Given the description of an element on the screen output the (x, y) to click on. 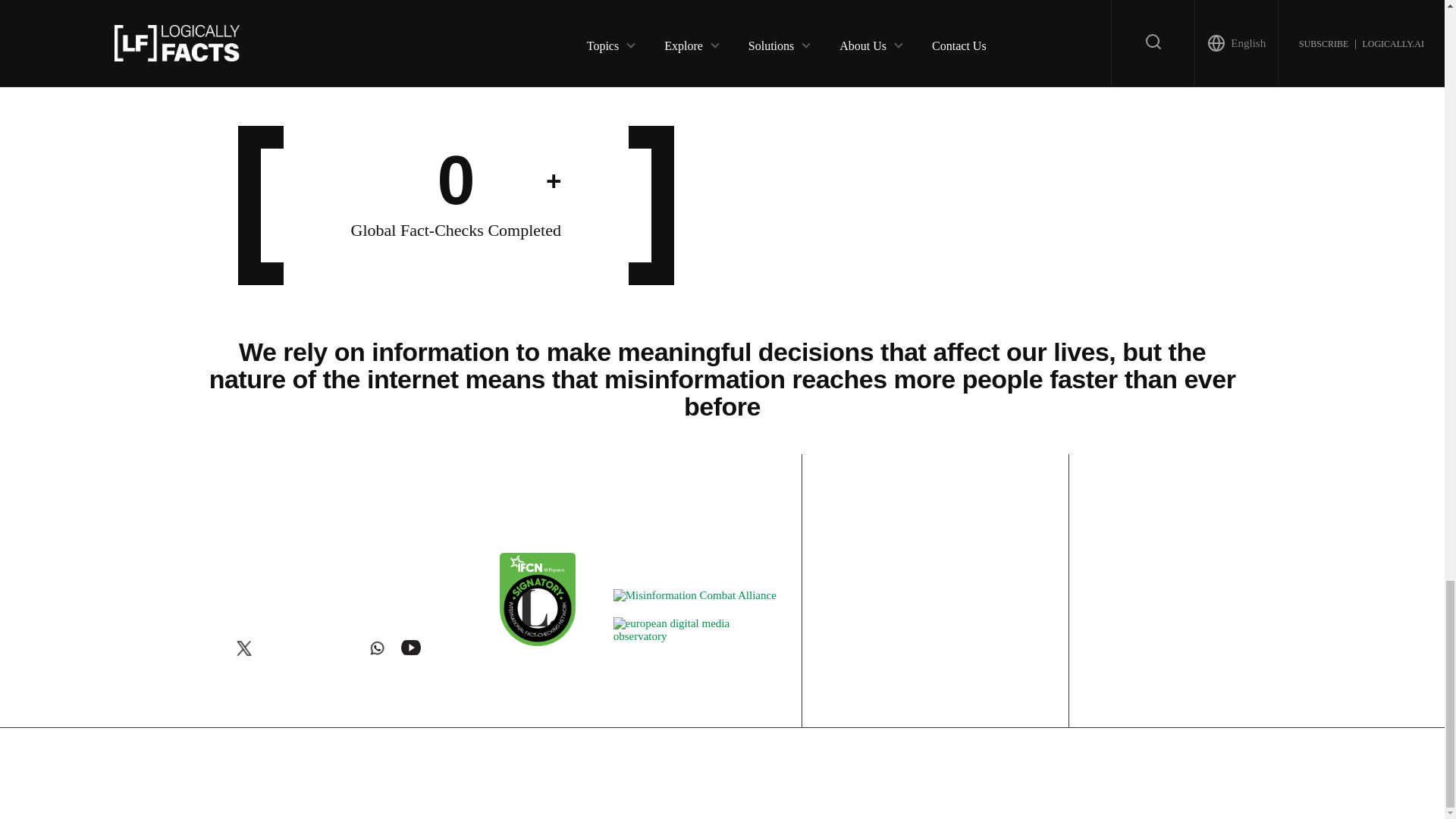
IFCN signatory (537, 642)
